Given the description of an element on the screen output the (x, y) to click on. 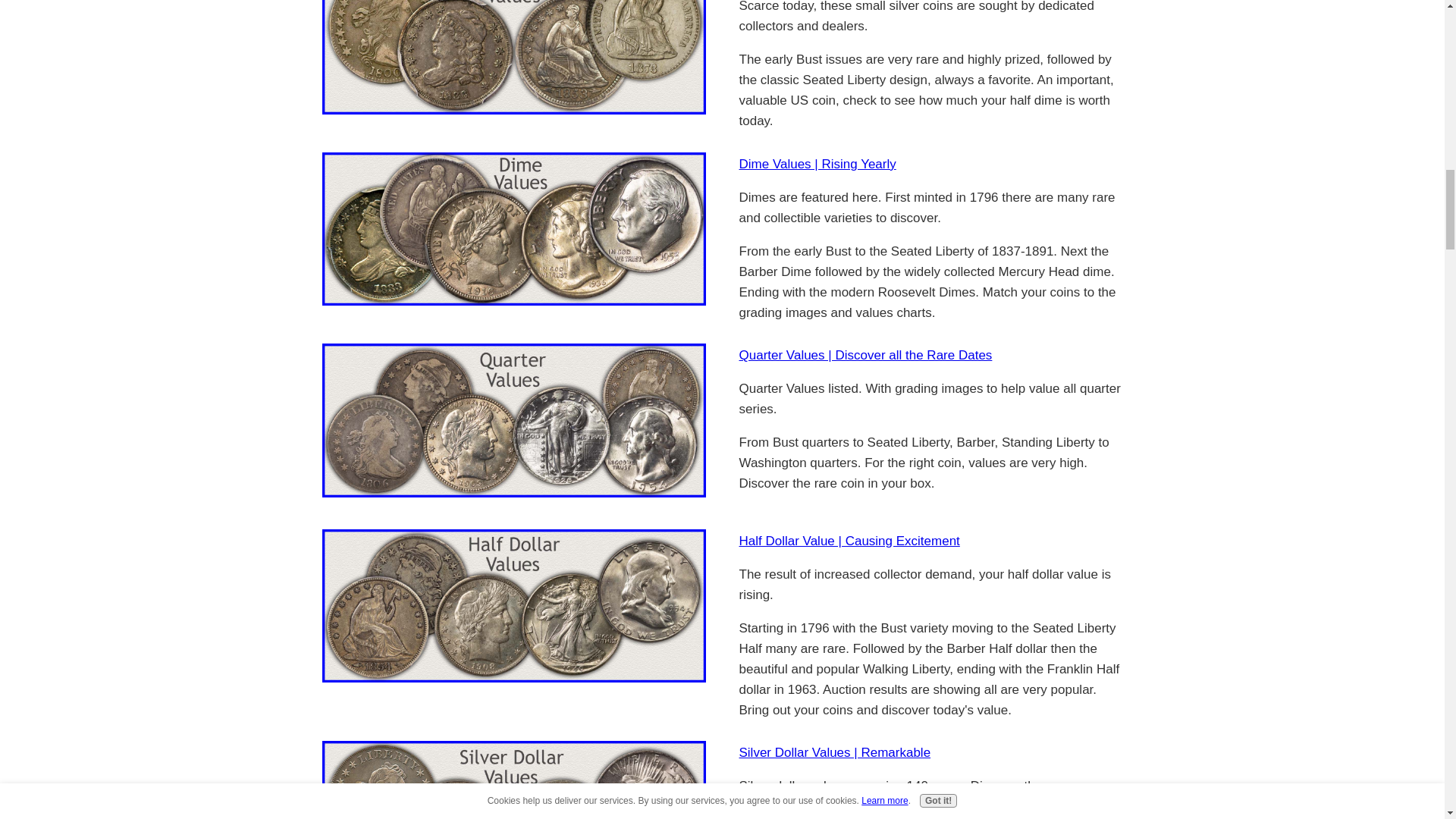
Visit...  Bust Half Dimes and Seated Liberty Half Dimes (512, 56)
